Given the description of an element on the screen output the (x, y) to click on. 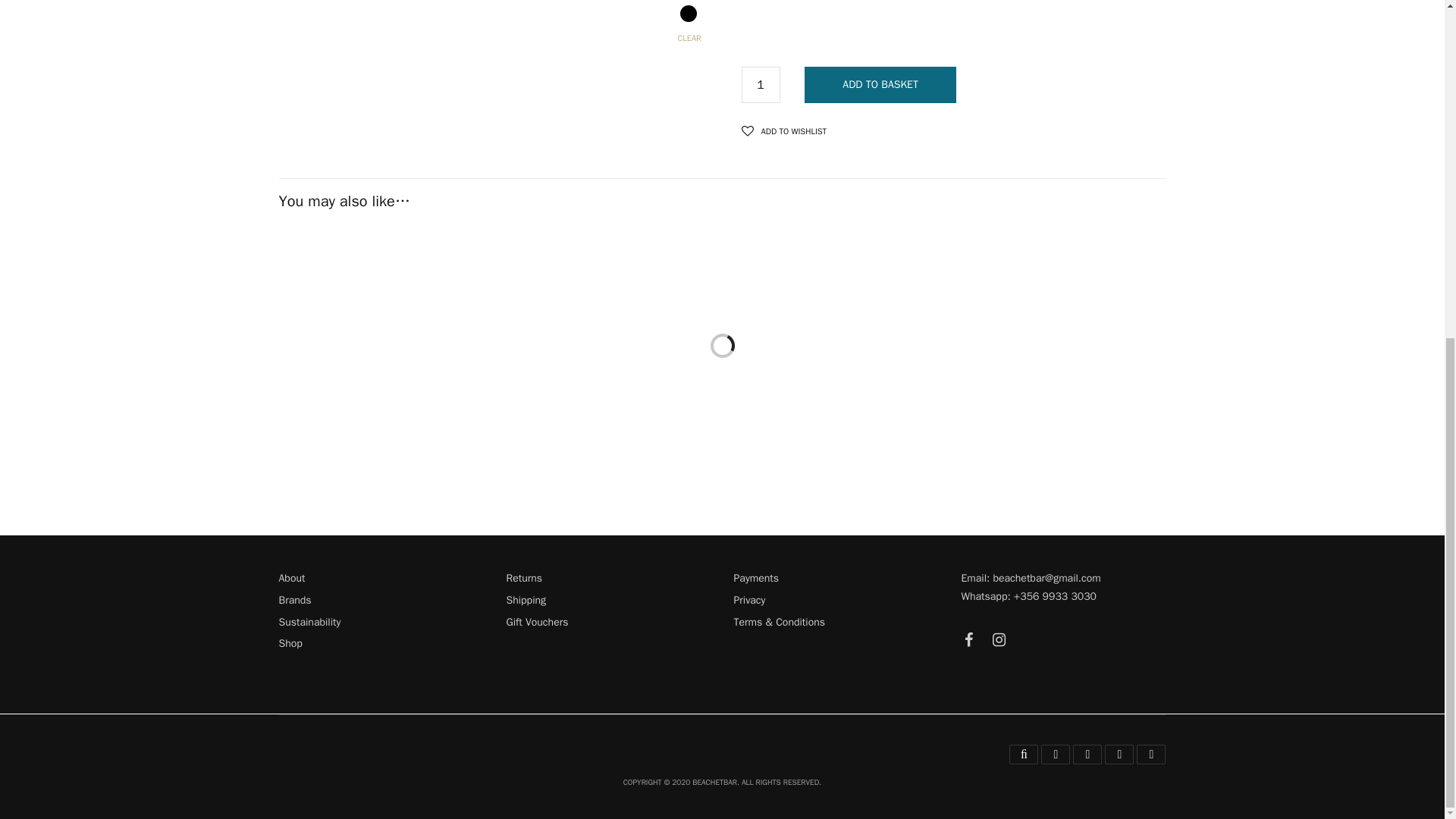
Black (688, 13)
CLEAR (890, 34)
ADD TO WISHLIST (784, 131)
ADD TO BASKET (880, 84)
1 (760, 84)
